Given the description of an element on the screen output the (x, y) to click on. 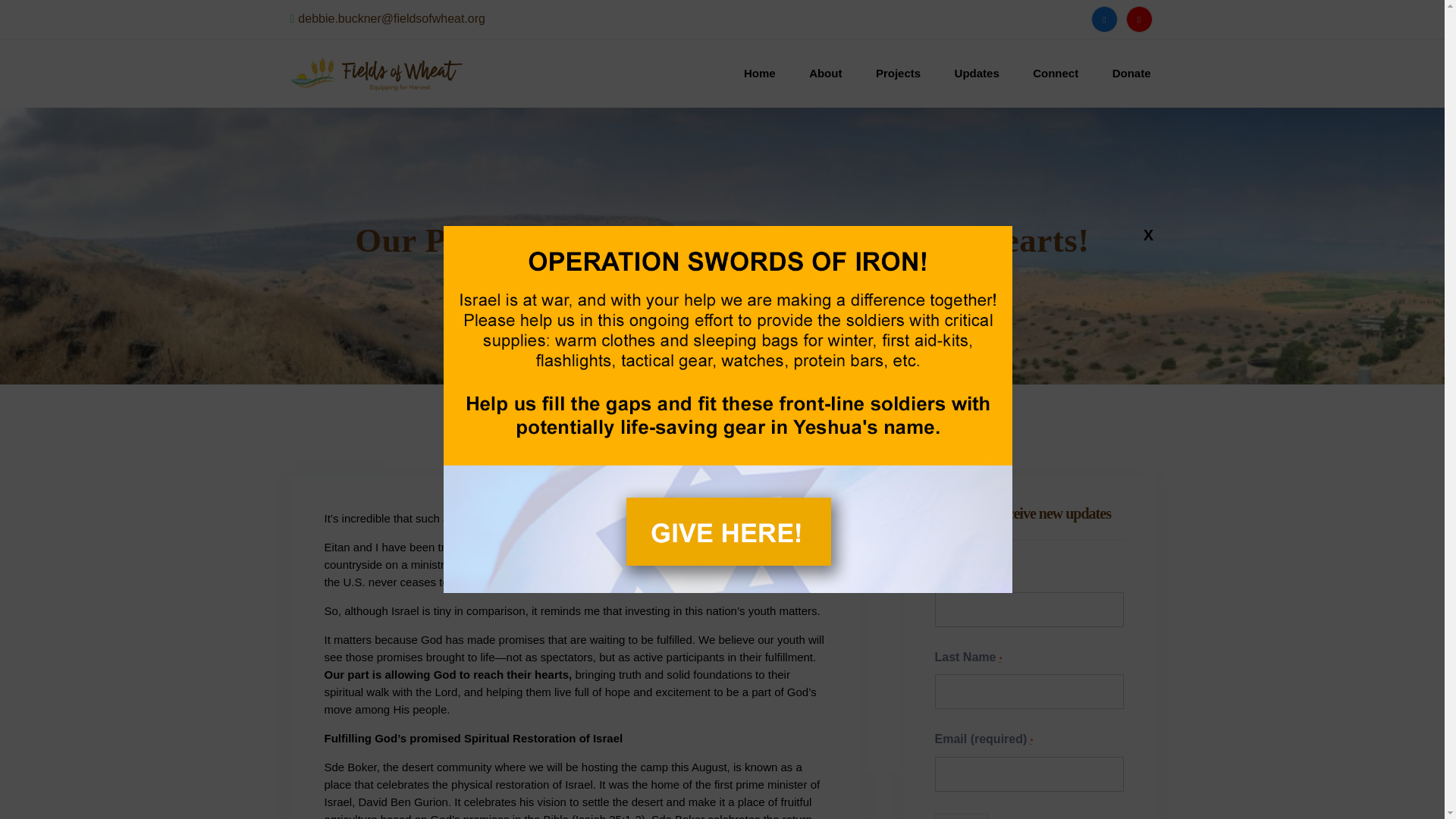
Donate (1131, 73)
Projects (898, 73)
About (825, 73)
Connect (1055, 73)
Updates (976, 73)
Sign up (960, 816)
Home (759, 73)
Sign up (960, 816)
